Given the description of an element on the screen output the (x, y) to click on. 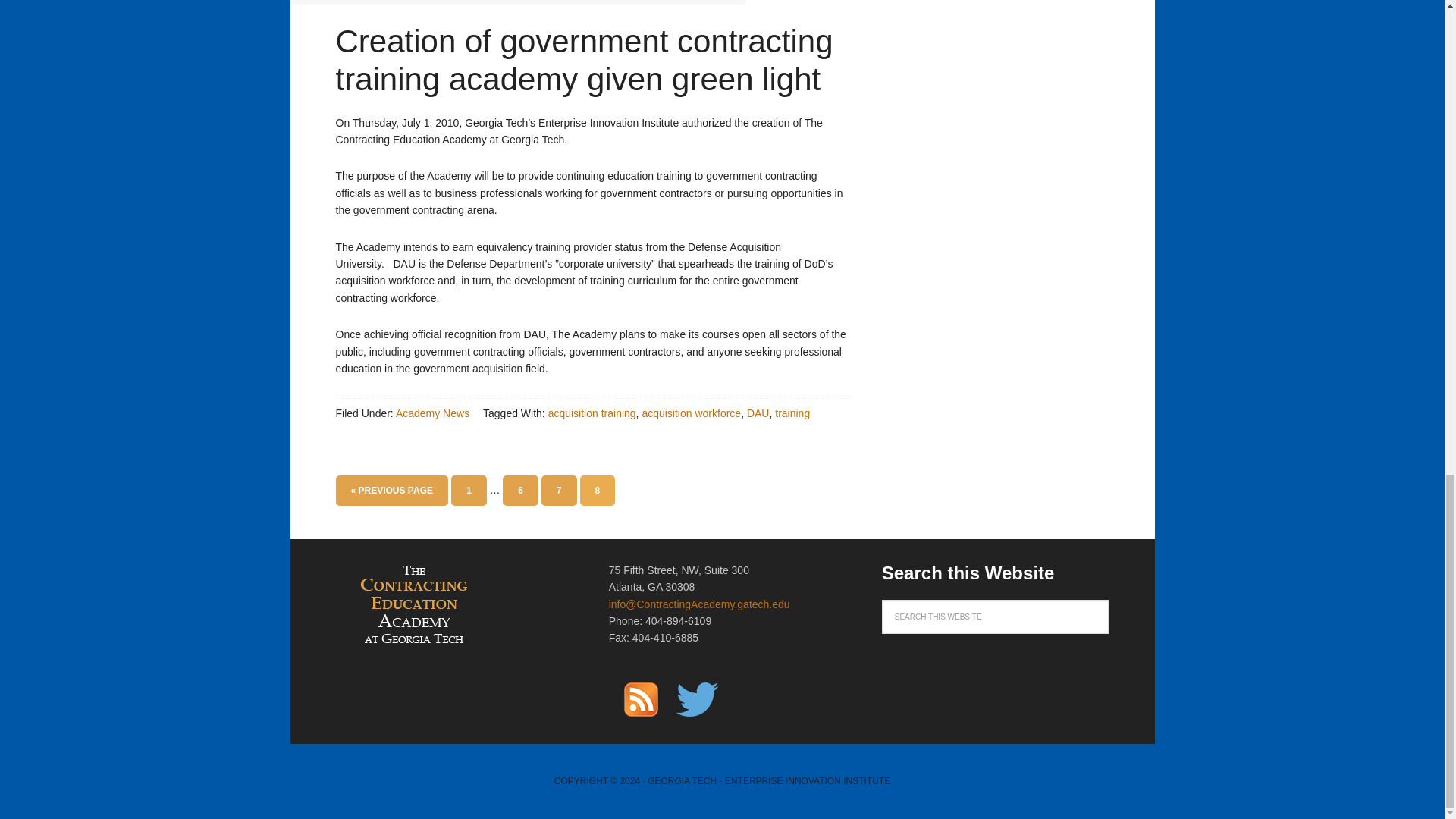
6 (520, 490)
DAU (758, 413)
8 (596, 490)
acquisition training (592, 413)
7 (558, 490)
acquisition workforce (691, 413)
Academy News (432, 413)
1 (468, 490)
training (791, 413)
